Given the description of an element on the screen output the (x, y) to click on. 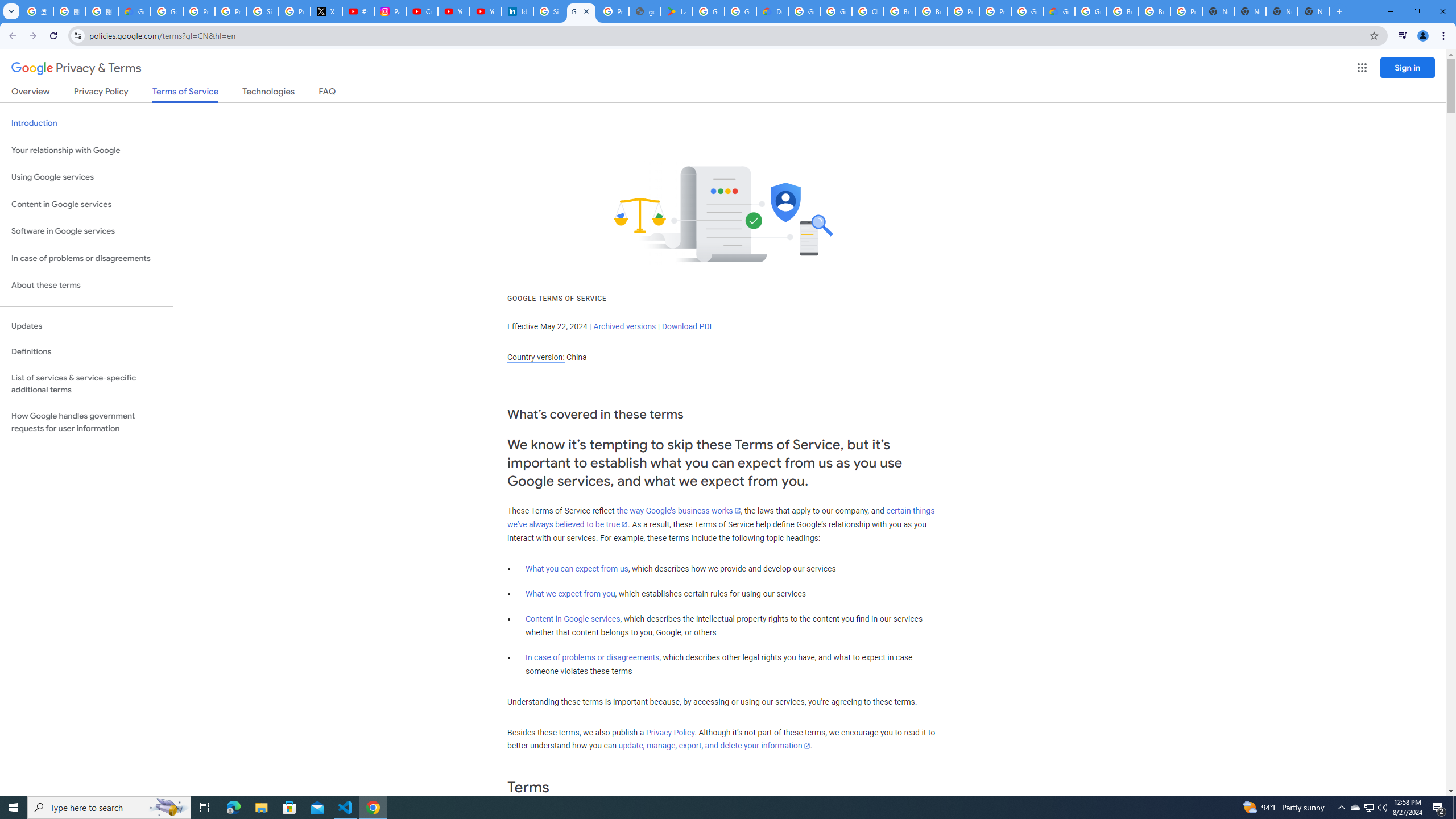
Using Google services (86, 176)
Google Cloud Platform (804, 11)
What we expect from you (570, 593)
Country version: (535, 357)
New Tab (1313, 11)
Google Cloud Platform (1027, 11)
New Tab (1217, 11)
